Given the description of an element on the screen output the (x, y) to click on. 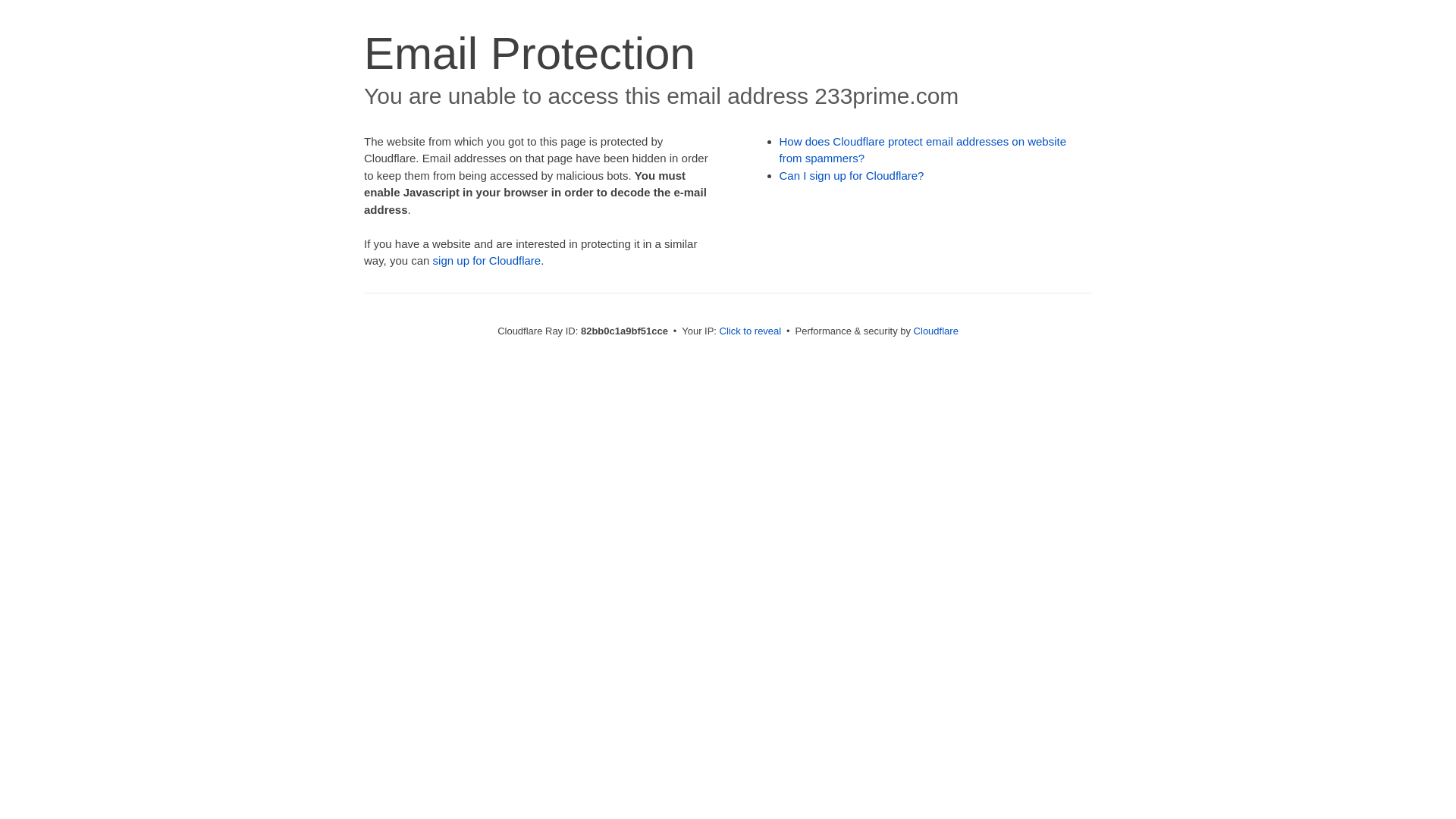
Click to reveal Element type: text (750, 330)
Cloudflare Element type: text (935, 330)
Can I sign up for Cloudflare? Element type: text (851, 175)
sign up for Cloudflare Element type: text (487, 260)
